Given the description of an element on the screen output the (x, y) to click on. 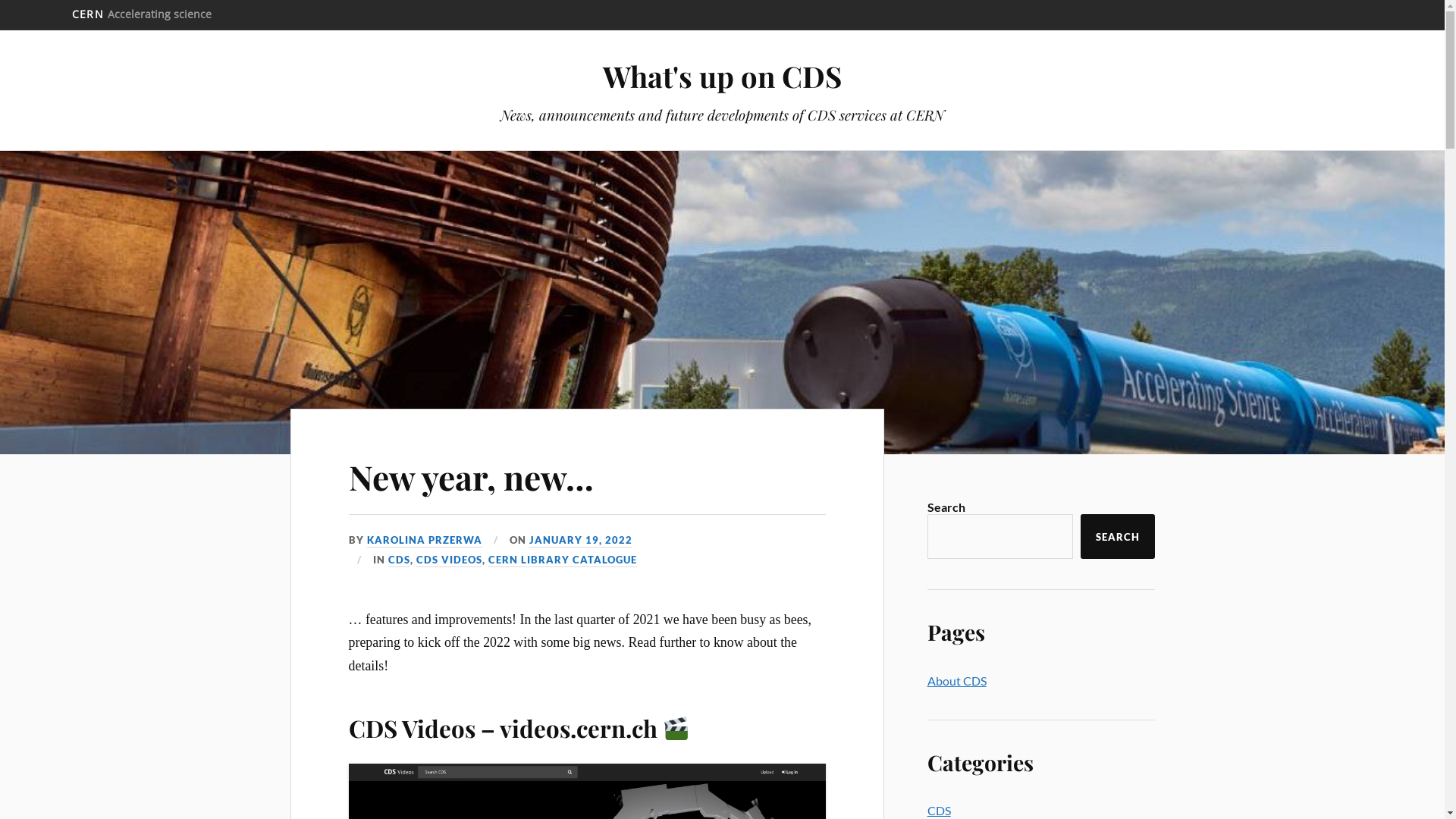
CERN LIBRARY CATALOGUE Element type: text (562, 560)
What's up on CDS Element type: text (721, 75)
CDS Element type: text (938, 810)
SEARCH Element type: text (1116, 536)
CDS Element type: text (399, 560)
CDS VIDEOS Element type: text (449, 560)
About CDS Element type: text (956, 680)
CERN Accelerating science Element type: text (141, 14)
JANUARY 19, 2022 Element type: text (580, 540)
KAROLINA PRZERWA Element type: text (424, 540)
